Given the description of an element on the screen output the (x, y) to click on. 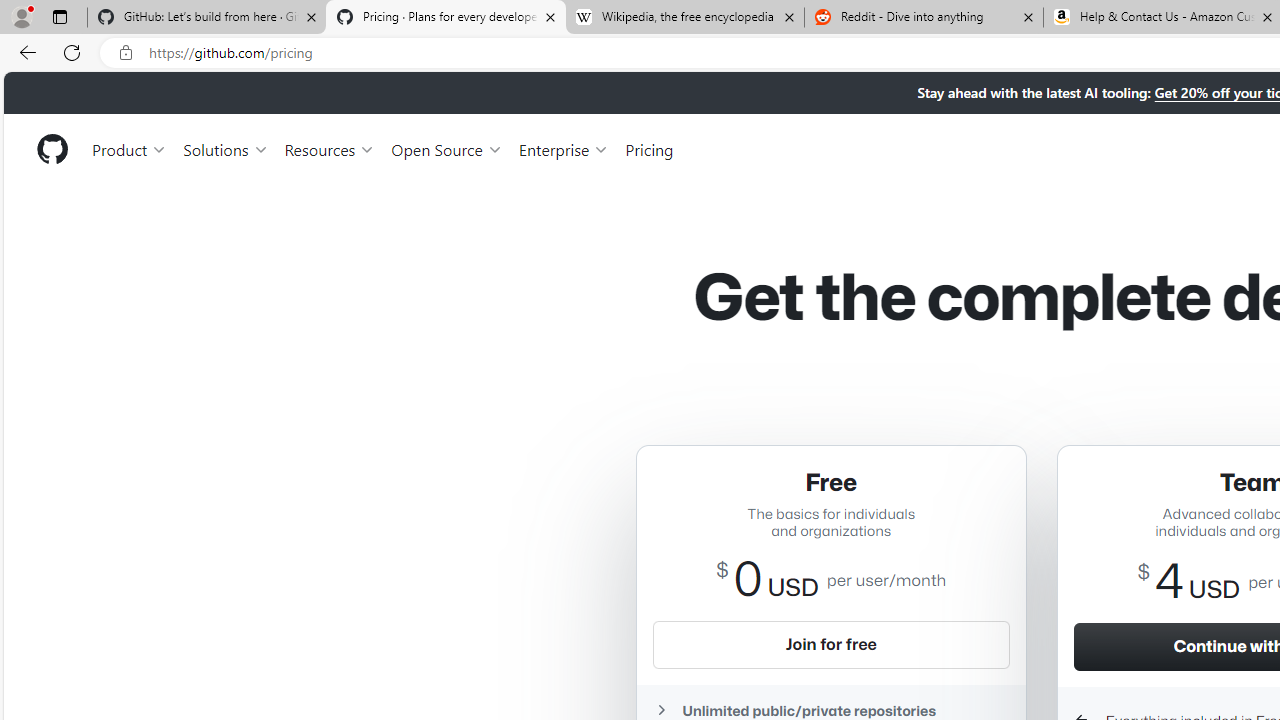
Join for free (830, 643)
Enterprise (563, 148)
Solutions (225, 148)
Open Source (446, 148)
Open Source (446, 148)
